Given the description of an element on the screen output the (x, y) to click on. 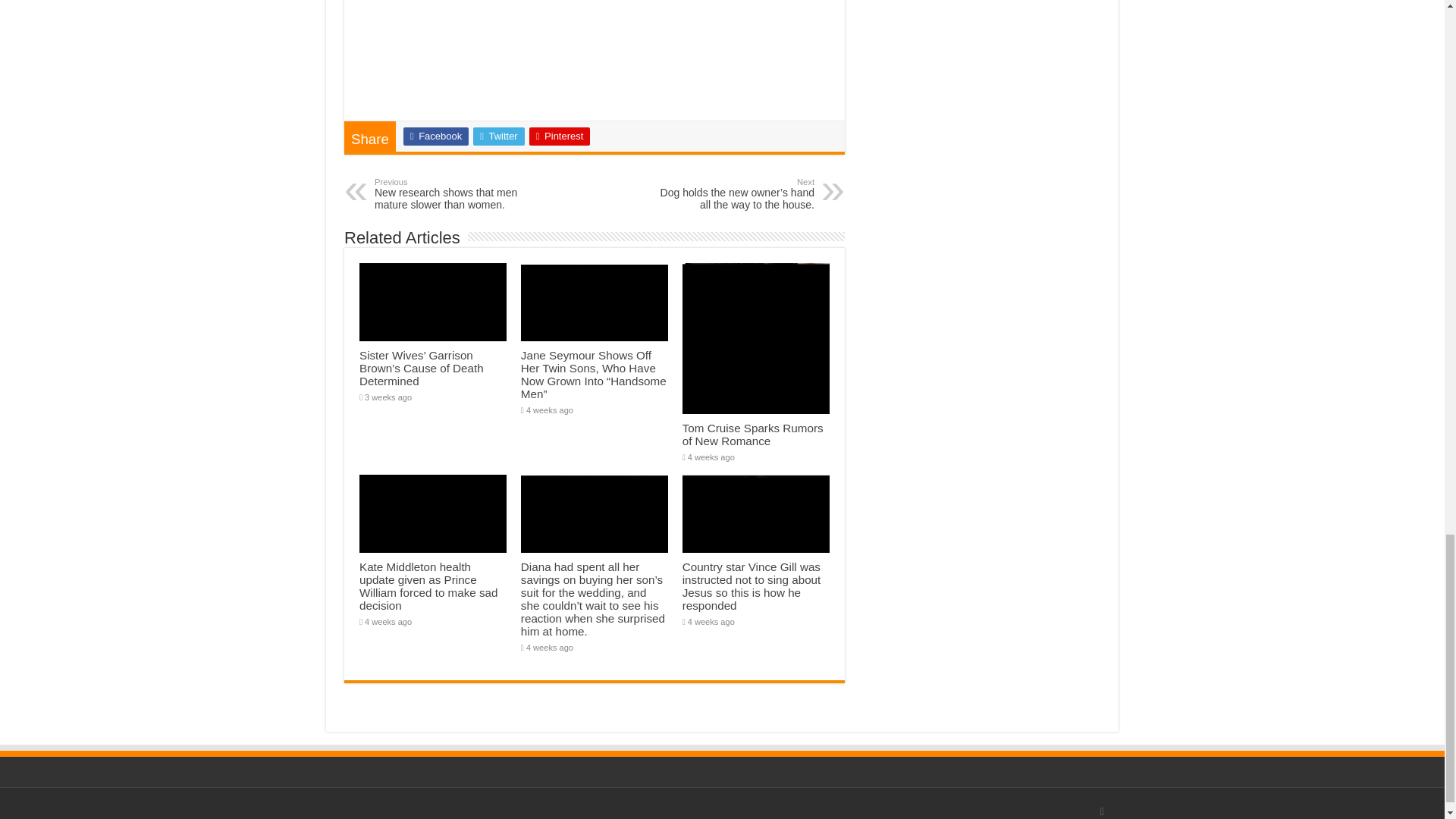
Facebook (435, 136)
Twitter (498, 136)
Pinterest (560, 136)
Tom Cruise Sparks Rumors of New Romance (753, 434)
